Given the description of an element on the screen output the (x, y) to click on. 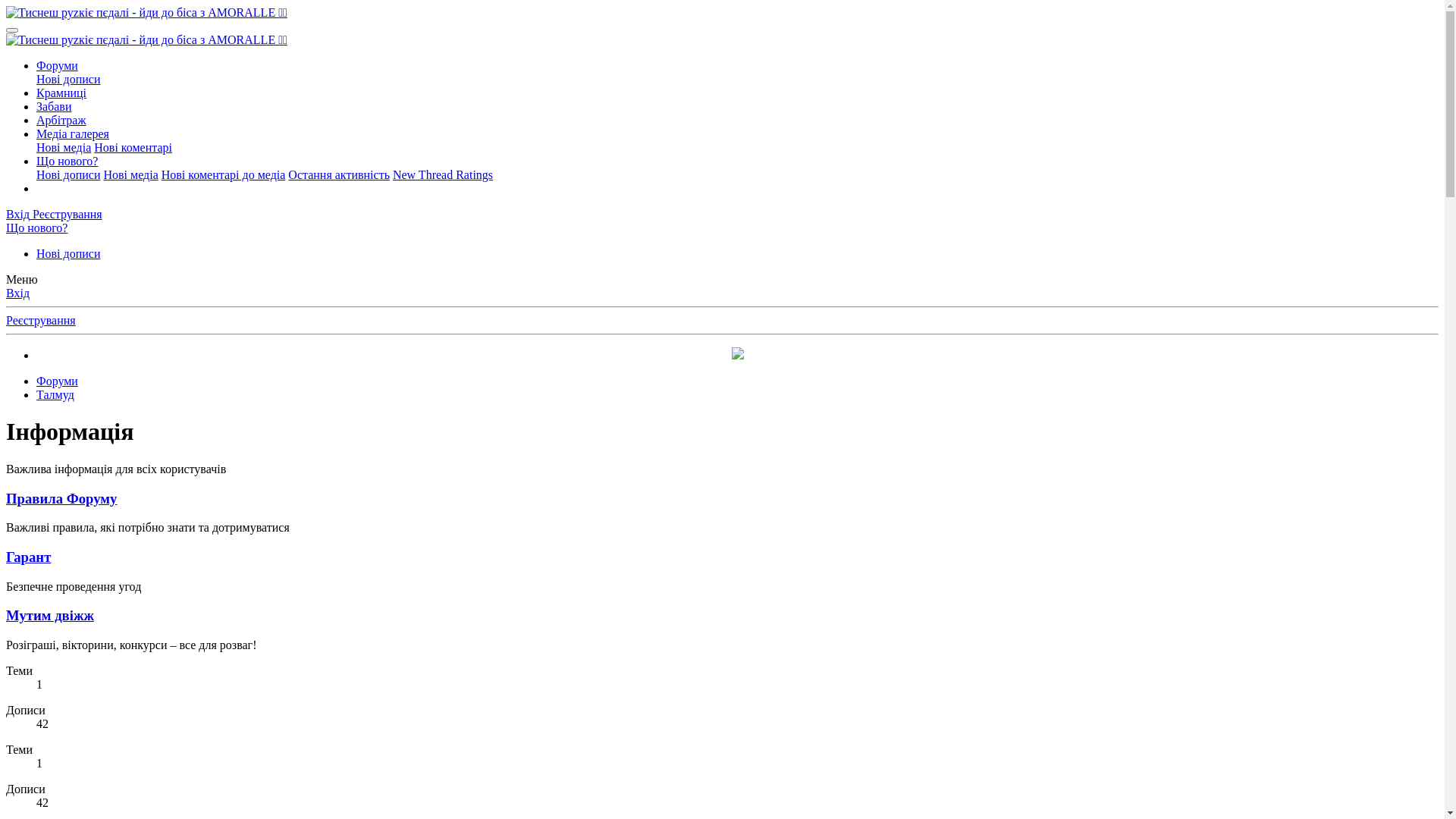
New Thread Ratings Element type: text (442, 174)
